Given the description of an element on the screen output the (x, y) to click on. 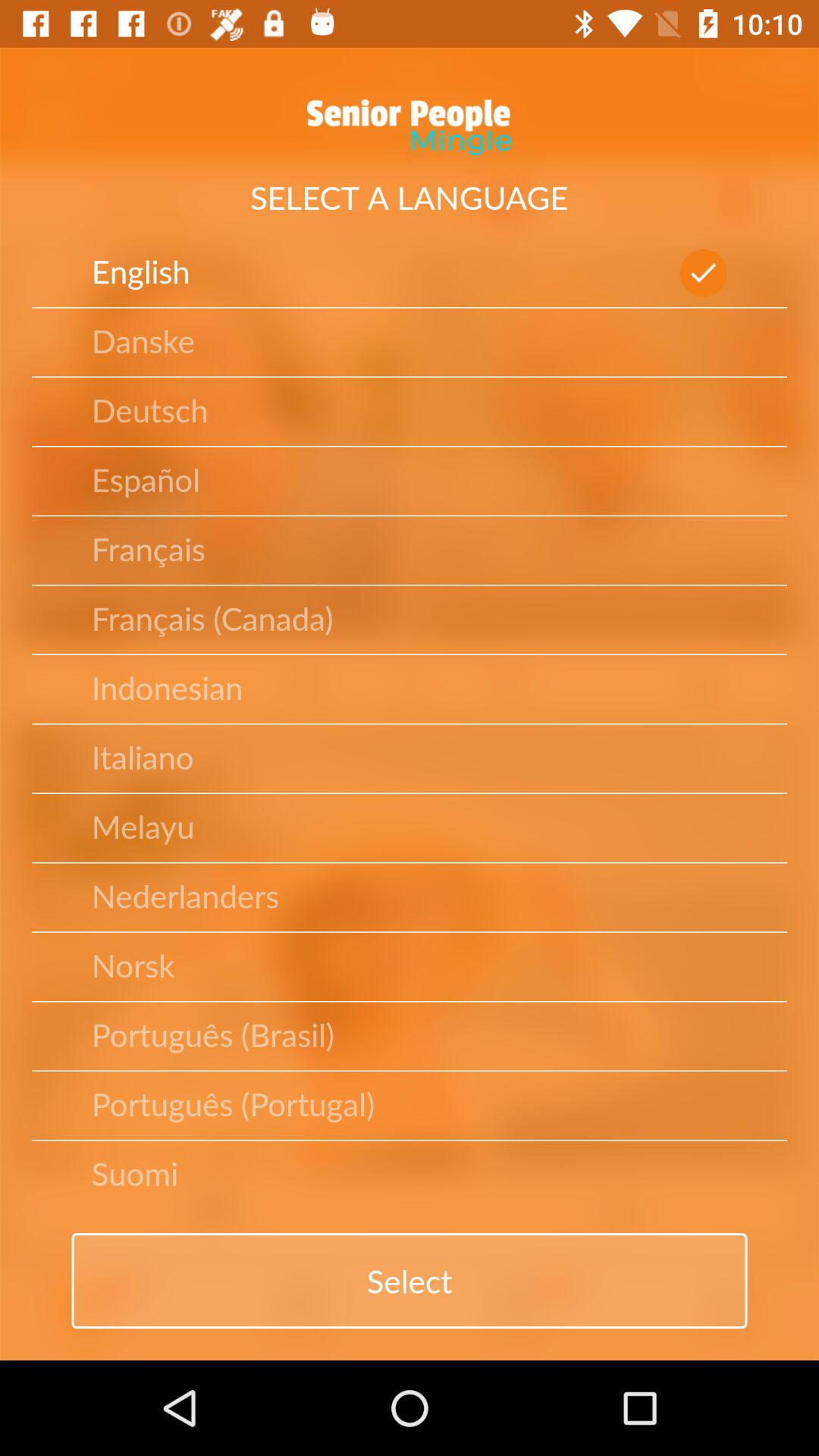
click select (409, 1281)
select the check mark which is next to english (703, 272)
